Given the description of an element on the screen output the (x, y) to click on. 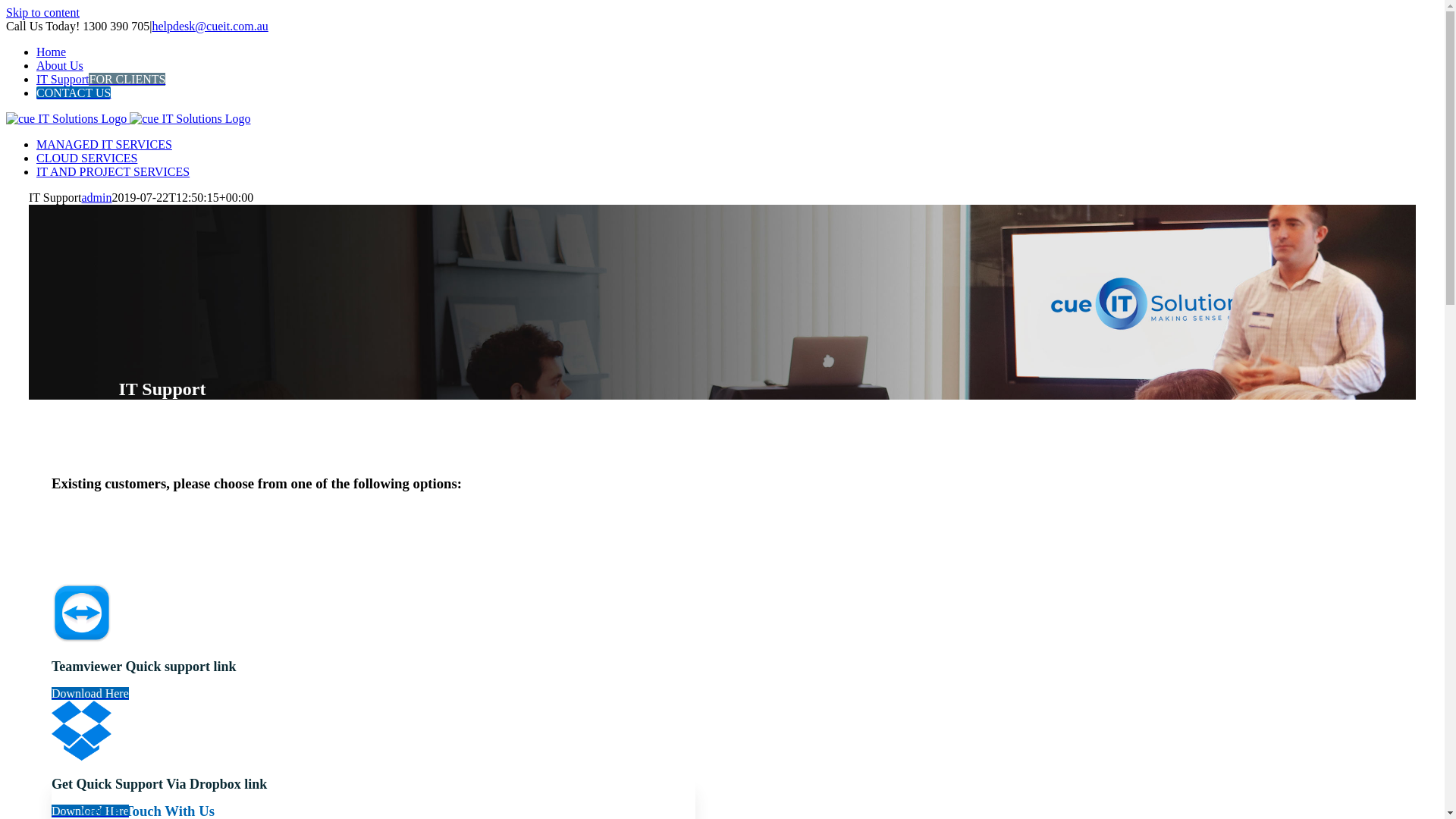
Home Element type: text (50, 51)
CLOUD SERVICES Element type: text (86, 157)
Skip to content Element type: text (42, 12)
helpdesk@cueit.com.au Element type: text (209, 25)
Download Here Element type: text (89, 810)
CONTACT US Element type: text (73, 92)
Download Here Element type: text (89, 693)
MANAGED IT SERVICES Element type: text (104, 144)
IT SupportFOR CLIENTS Element type: text (100, 78)
admin Element type: text (96, 197)
IT AND PROJECT SERVICES Element type: text (112, 171)
About Us Element type: text (59, 65)
IT Support Element type: text (161, 388)
